Given the description of an element on the screen output the (x, y) to click on. 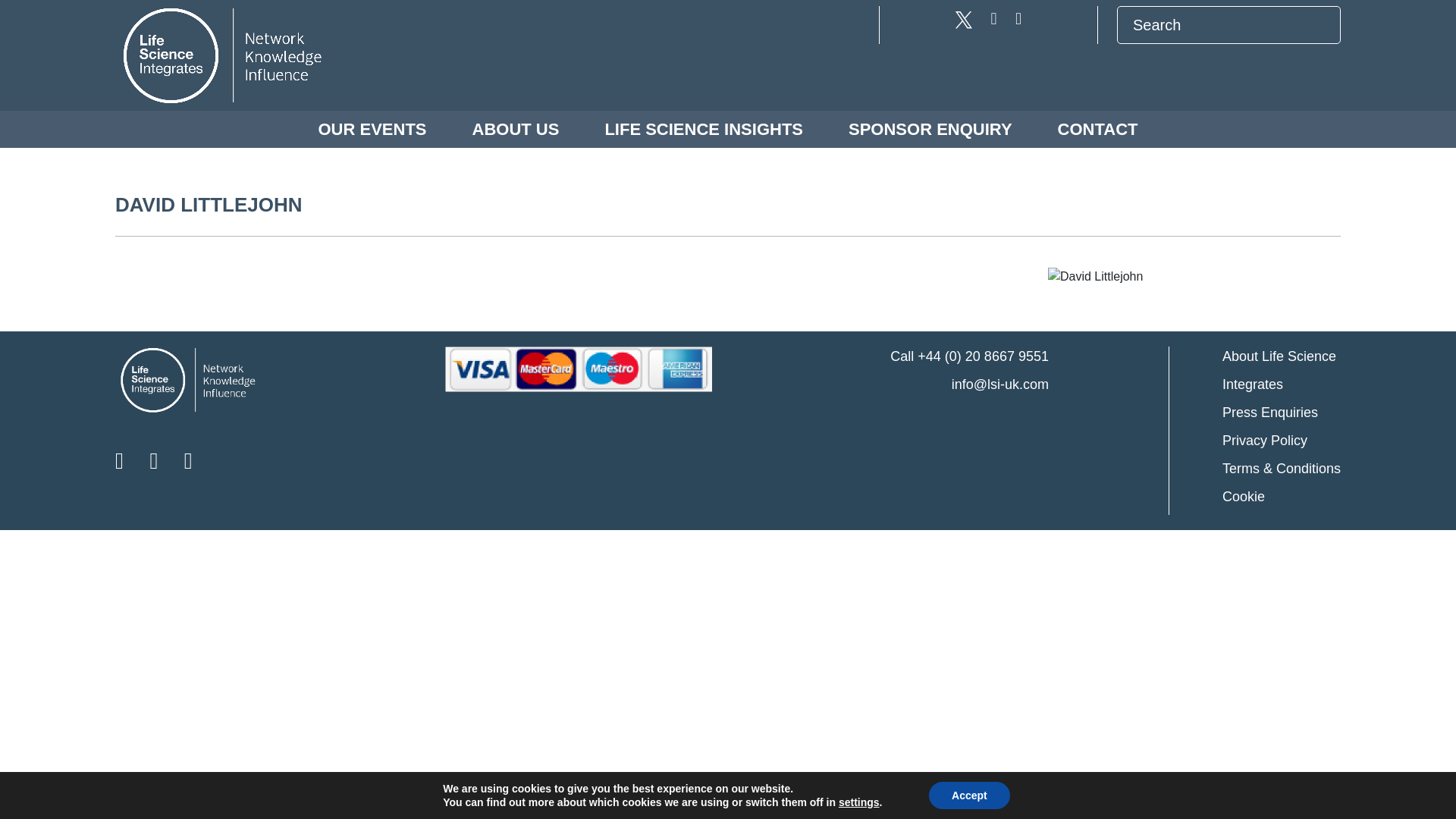
Cookie (1281, 496)
LIFE SCIENCE INSIGHTS (703, 129)
About Life Science (1281, 356)
Privacy Policy (1281, 440)
CONTACT (1098, 129)
OUR EVENTS (372, 129)
Integrates (1281, 384)
SPONSOR ENQUIRY (929, 129)
ABOUT US (515, 129)
Press Enquiries (1281, 412)
